Given the description of an element on the screen output the (x, y) to click on. 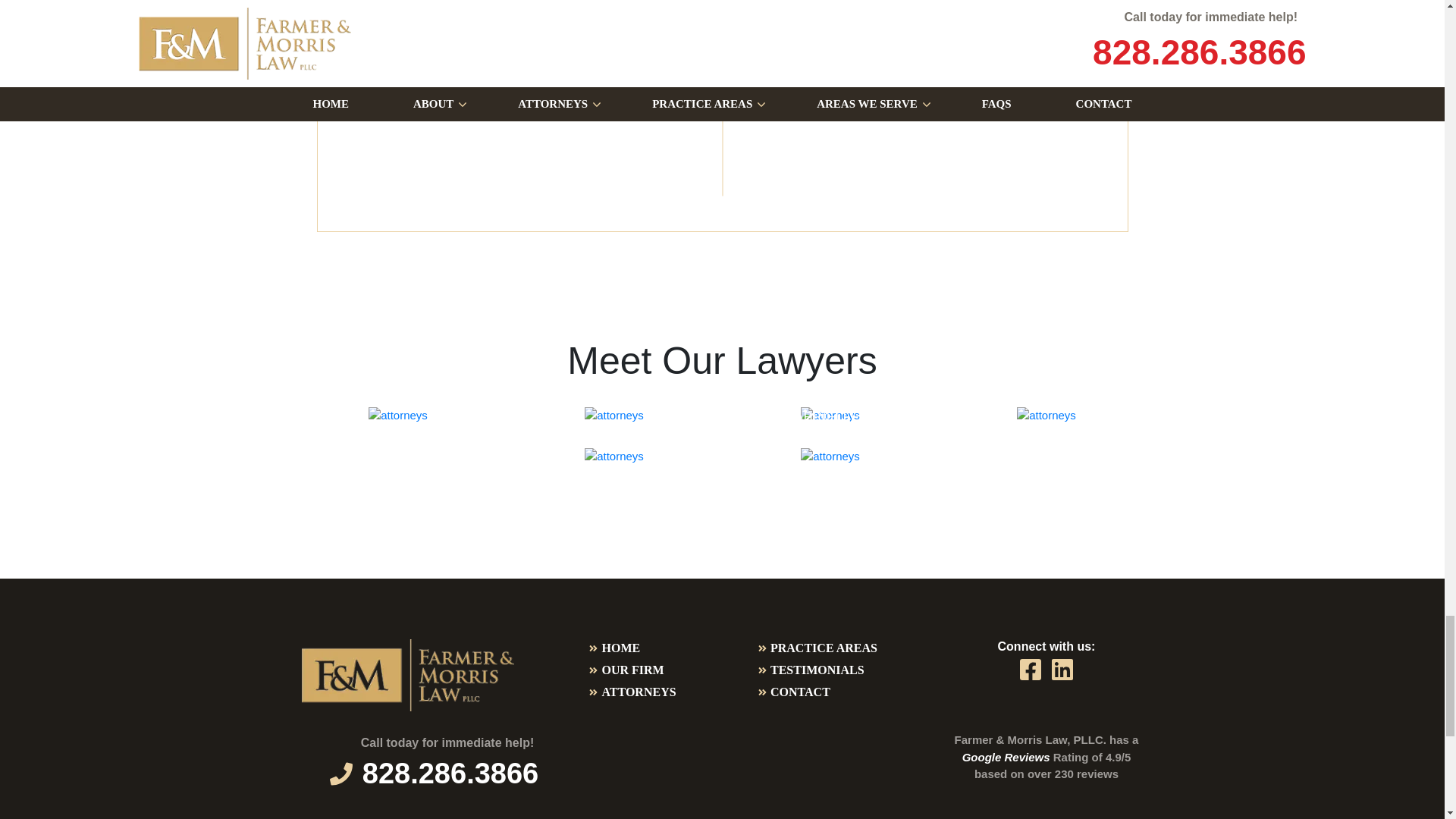
What Is the Process of Filing Bankruptcy? (304, 6)
